Given the description of an element on the screen output the (x, y) to click on. 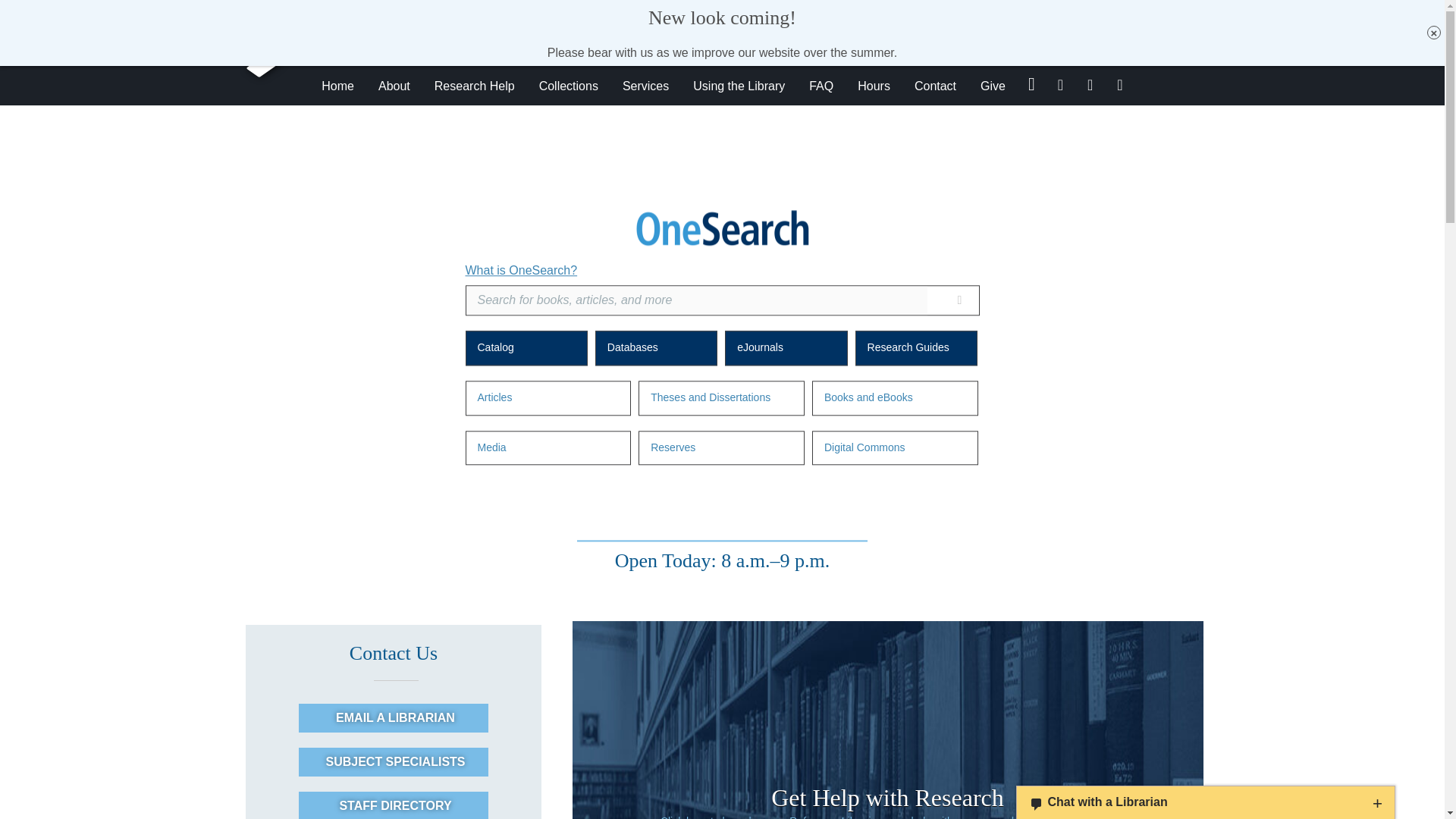
Calendar (991, 10)
myUMaine (1173, 10)
Search for books, articles, and more (695, 299)
News (1088, 10)
Careers (1125, 10)
Map (1056, 10)
Raymond H. Fogler Library (505, 42)
Search (959, 299)
Apply to UMaine (903, 10)
Give (1029, 10)
A-Z (954, 10)
Search for: (1055, 43)
Search (1119, 42)
